Given the description of an element on the screen output the (x, y) to click on. 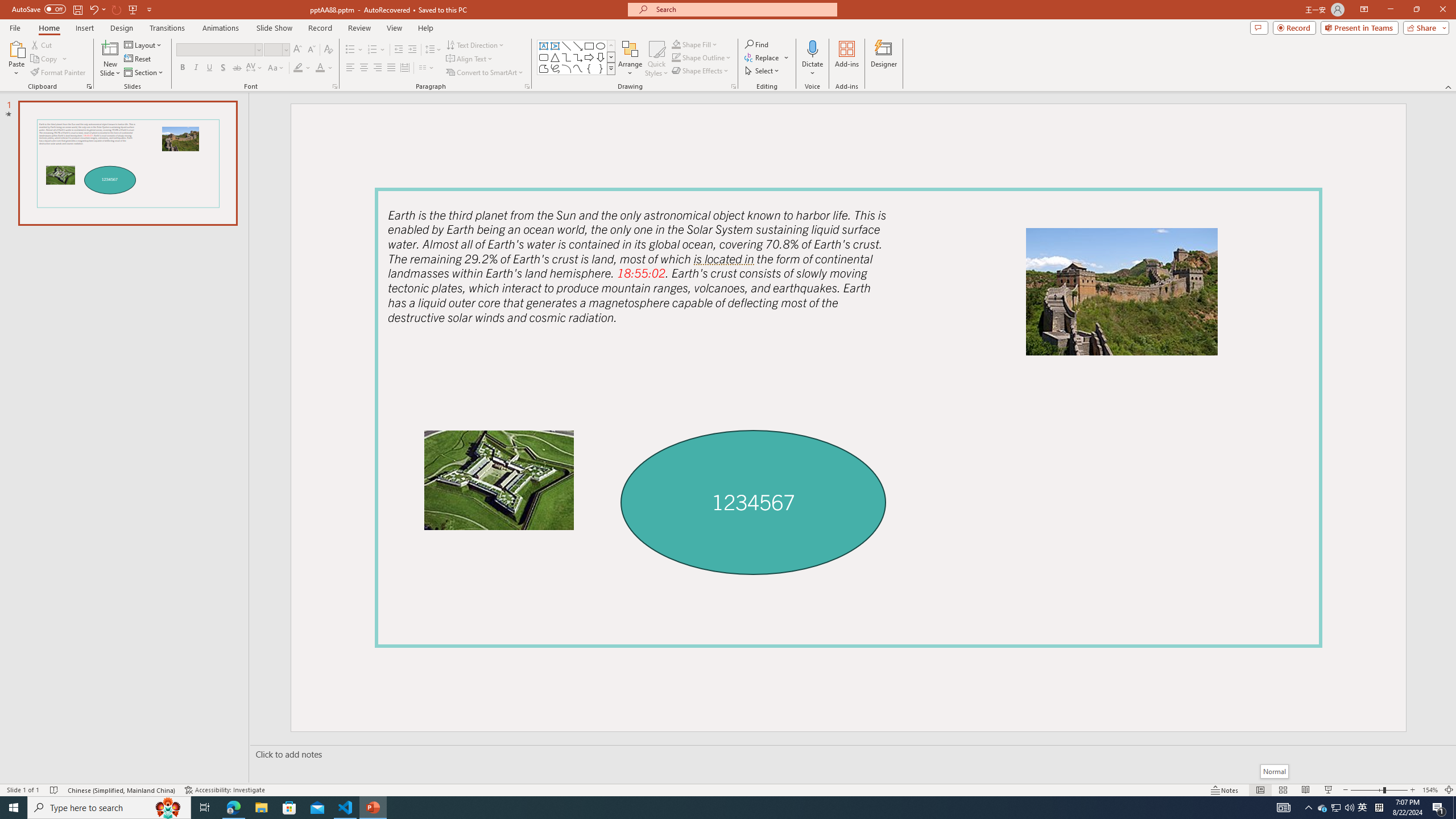
Text Direction (476, 44)
Underline (209, 67)
Quick Styles (656, 58)
Rectangle (589, 45)
Increase Indent (412, 49)
Strikethrough (237, 67)
Office Clipboard... (88, 85)
Oval (600, 45)
